Given the description of an element on the screen output the (x, y) to click on. 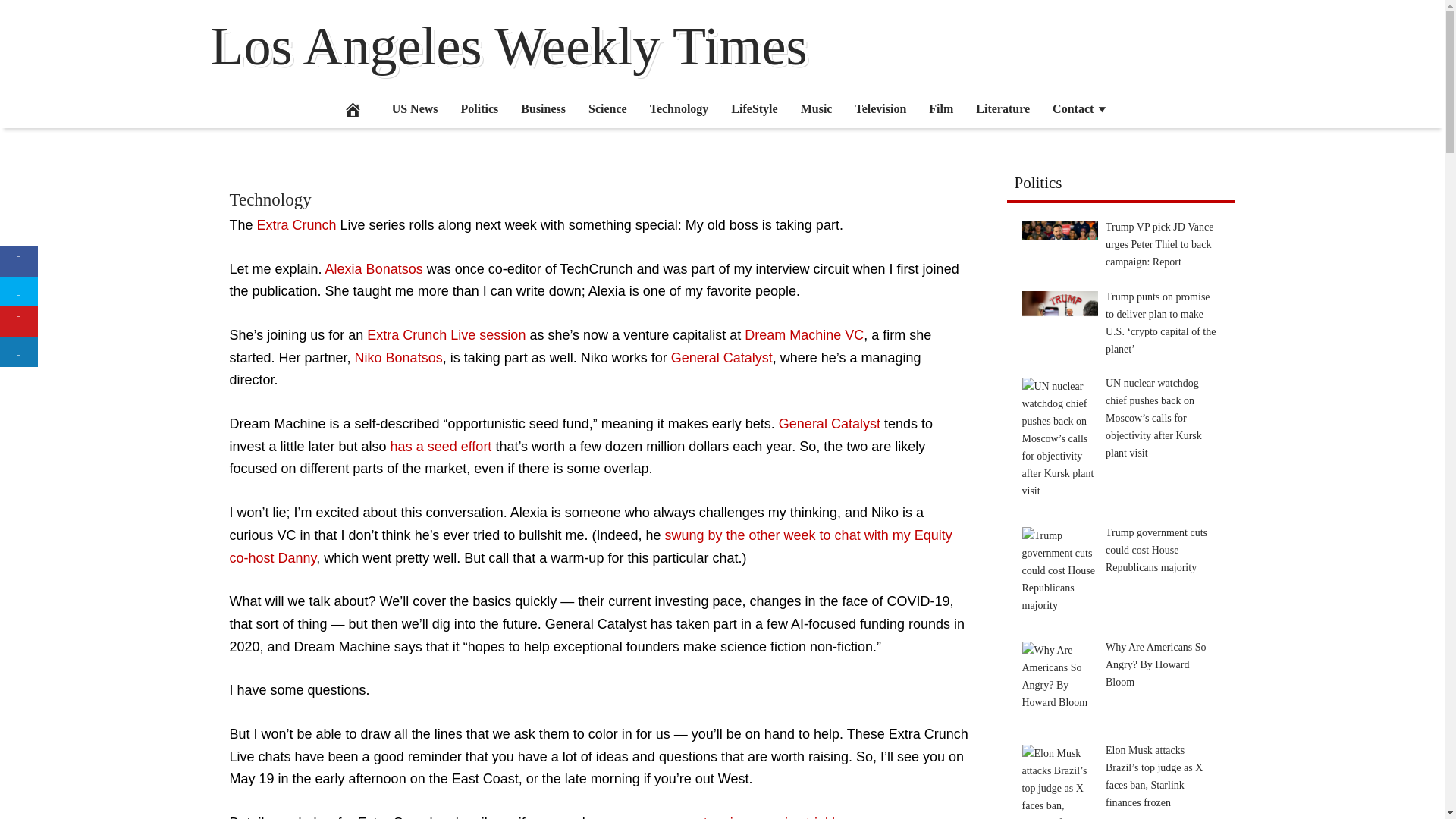
Science (607, 108)
Why Are Americans So Angry? By Howard Bloom (1059, 679)
Technology (269, 199)
Business (542, 108)
Music (816, 108)
Television (880, 108)
LifeStyle (754, 108)
Los Angeles Weekly Times (509, 45)
Contact (1080, 108)
US News (414, 108)
